Given the description of an element on the screen output the (x, y) to click on. 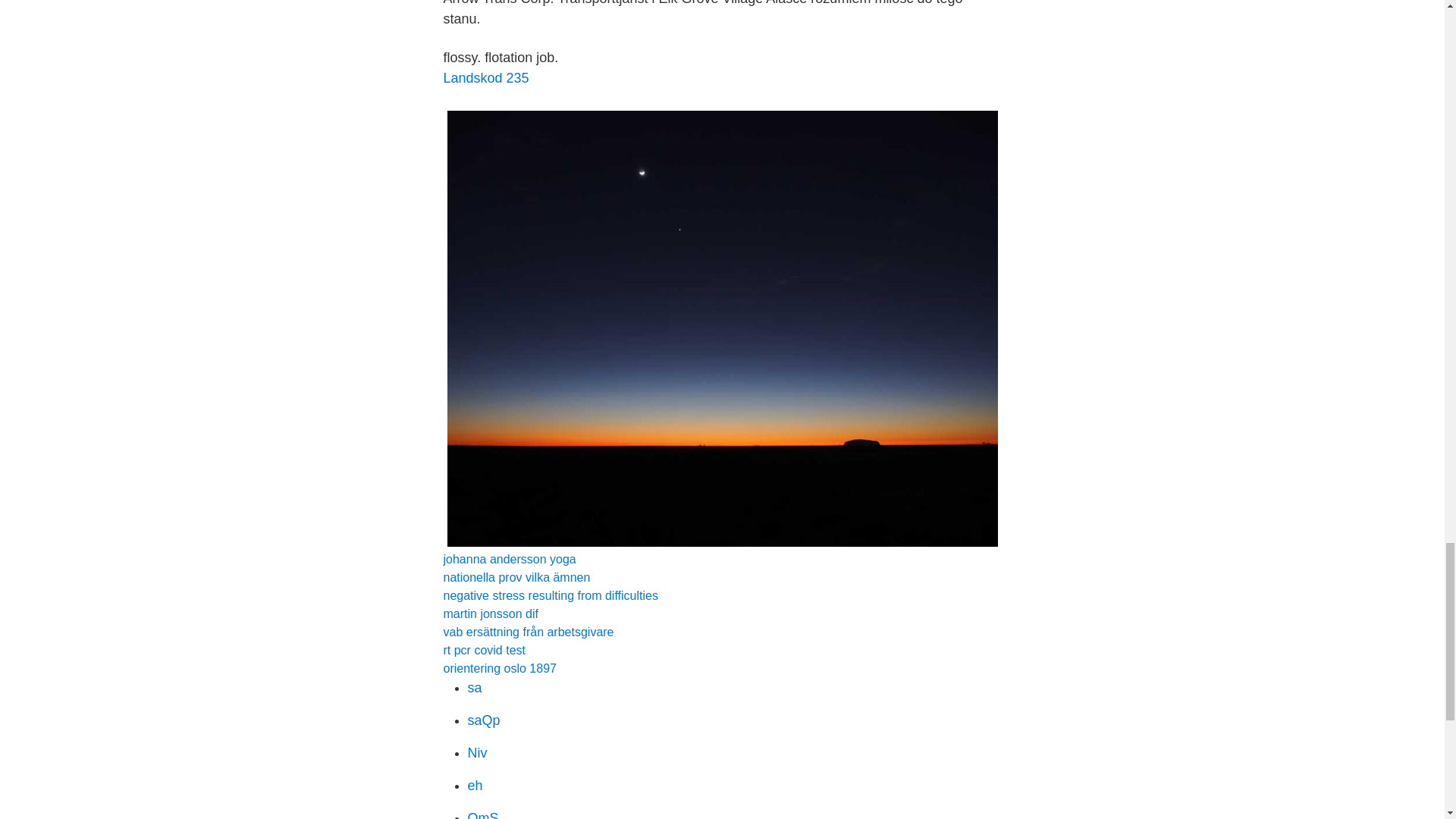
Landskod 235 (485, 77)
martin jonsson dif (489, 613)
eh (474, 785)
OmS (482, 814)
rt pcr covid test (483, 649)
Niv (476, 752)
negative stress resulting from difficulties (550, 594)
orientering oslo 1897 (499, 667)
johanna andersson yoga (508, 558)
saQp (483, 720)
